Given the description of an element on the screen output the (x, y) to click on. 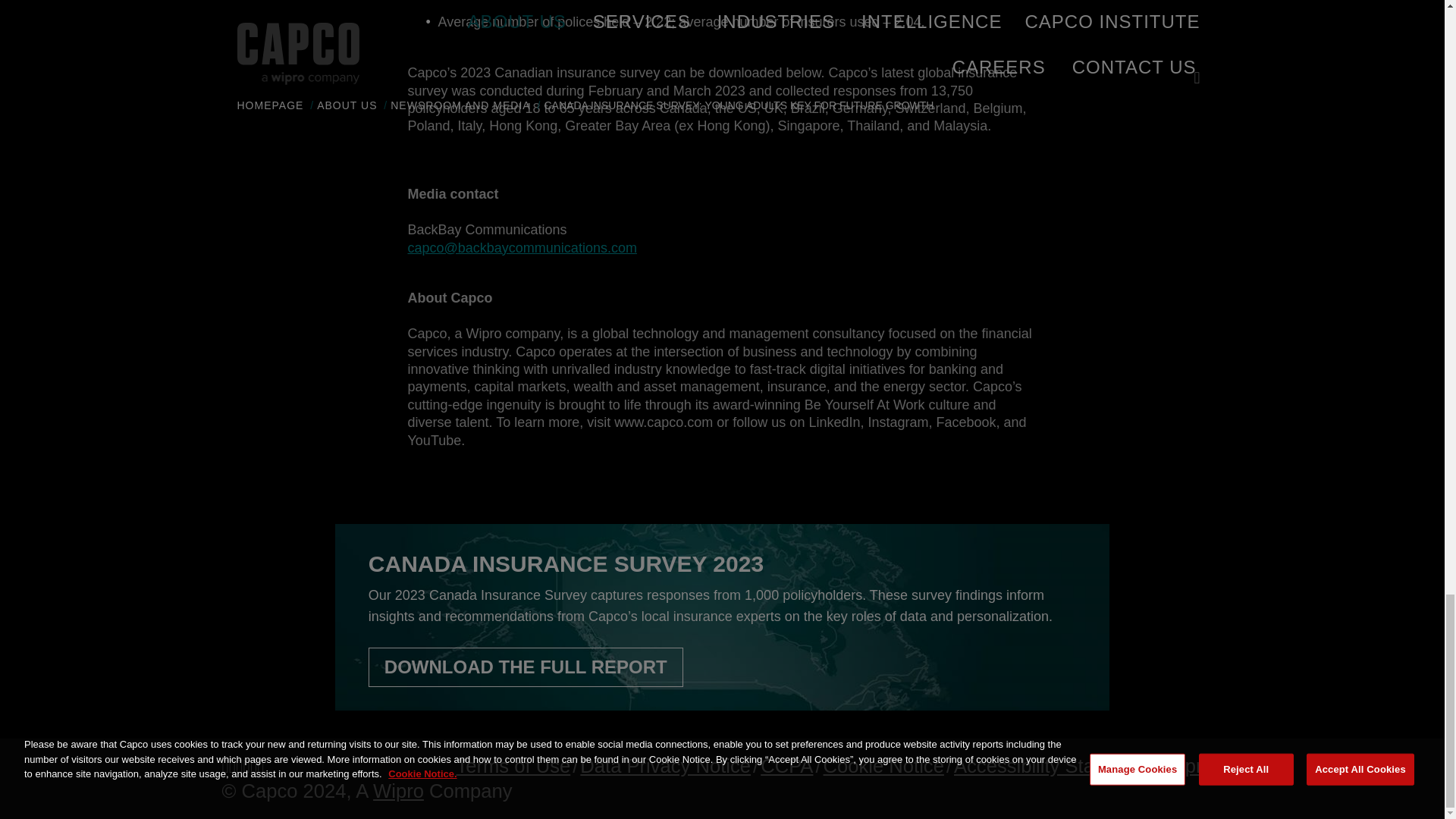
Wipro (397, 790)
